Given the description of an element on the screen output the (x, y) to click on. 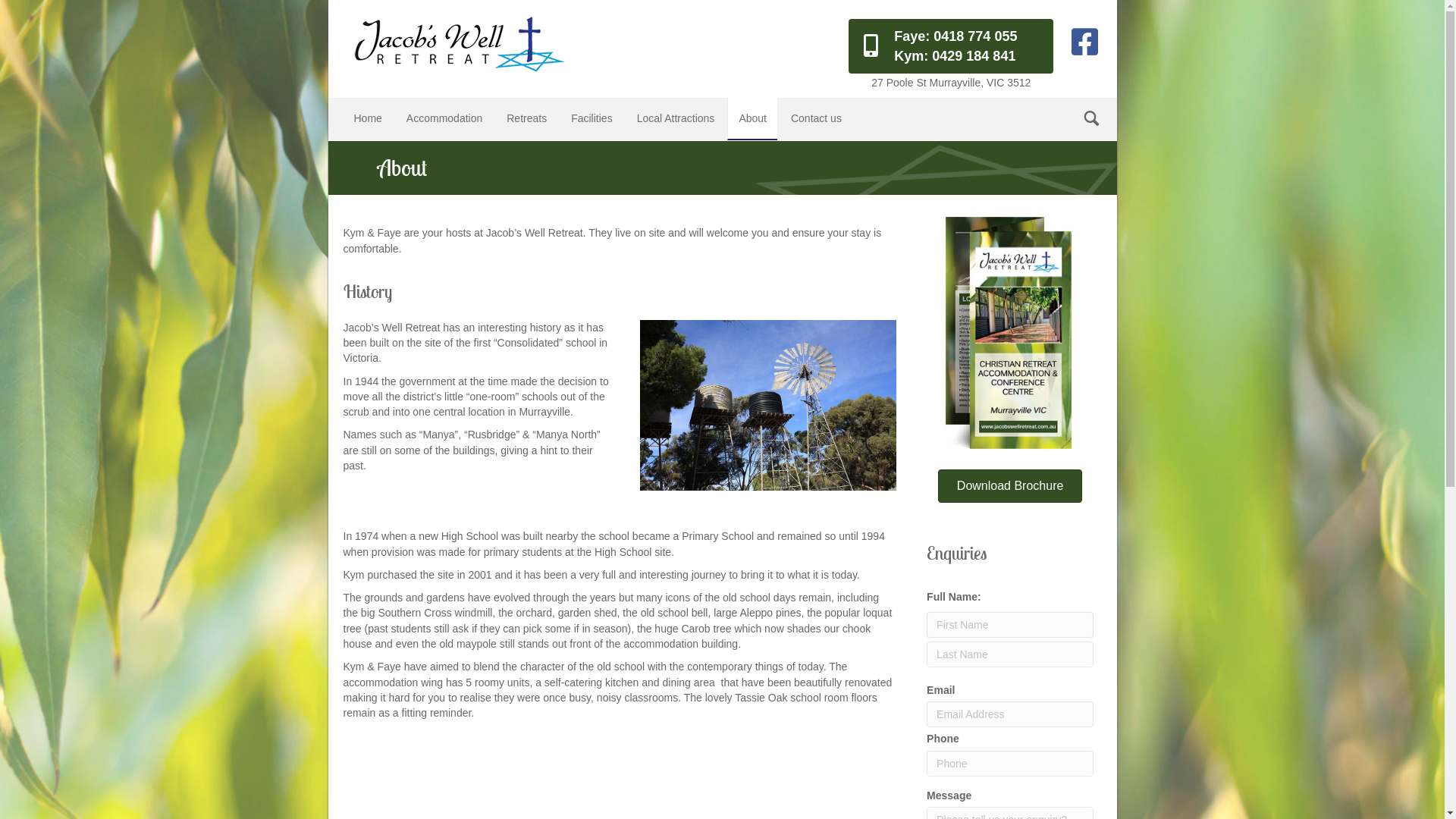
local-1 Element type: hover (768, 405)
Contact us Element type: text (816, 117)
Facilities Element type: text (591, 117)
About Element type: text (752, 117)
Accommodation Element type: text (443, 117)
Local Attractions Element type: text (675, 117)
Download Brochure Element type: text (1010, 485)
Home Element type: text (367, 117)
3d-Brochure Element type: hover (1010, 334)
logo-colour-2 Element type: hover (456, 44)
Retreats Element type: text (526, 117)
